Given the description of an element on the screen output the (x, y) to click on. 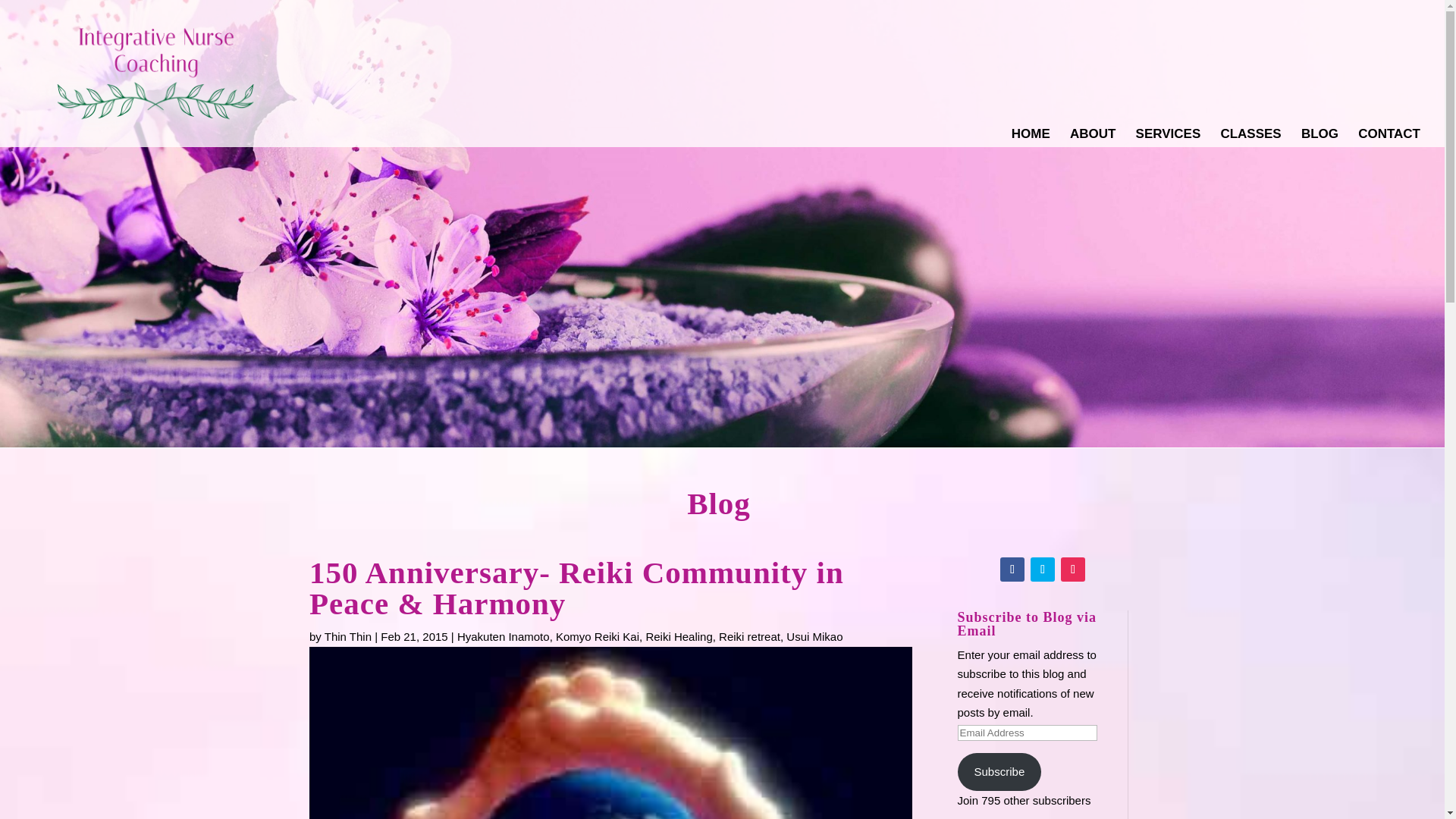
Reiki retreat (749, 635)
Usui Mikao (814, 635)
Hyakuten Inamoto (503, 635)
CONTACT (1389, 137)
HOME (1030, 137)
SERVICES (1168, 137)
CLASSES (1250, 137)
Healing the Blue Planet The Earth (610, 733)
Follow on Twitter (1042, 569)
Posts by Thin Thin (347, 635)
